Given the description of an element on the screen output the (x, y) to click on. 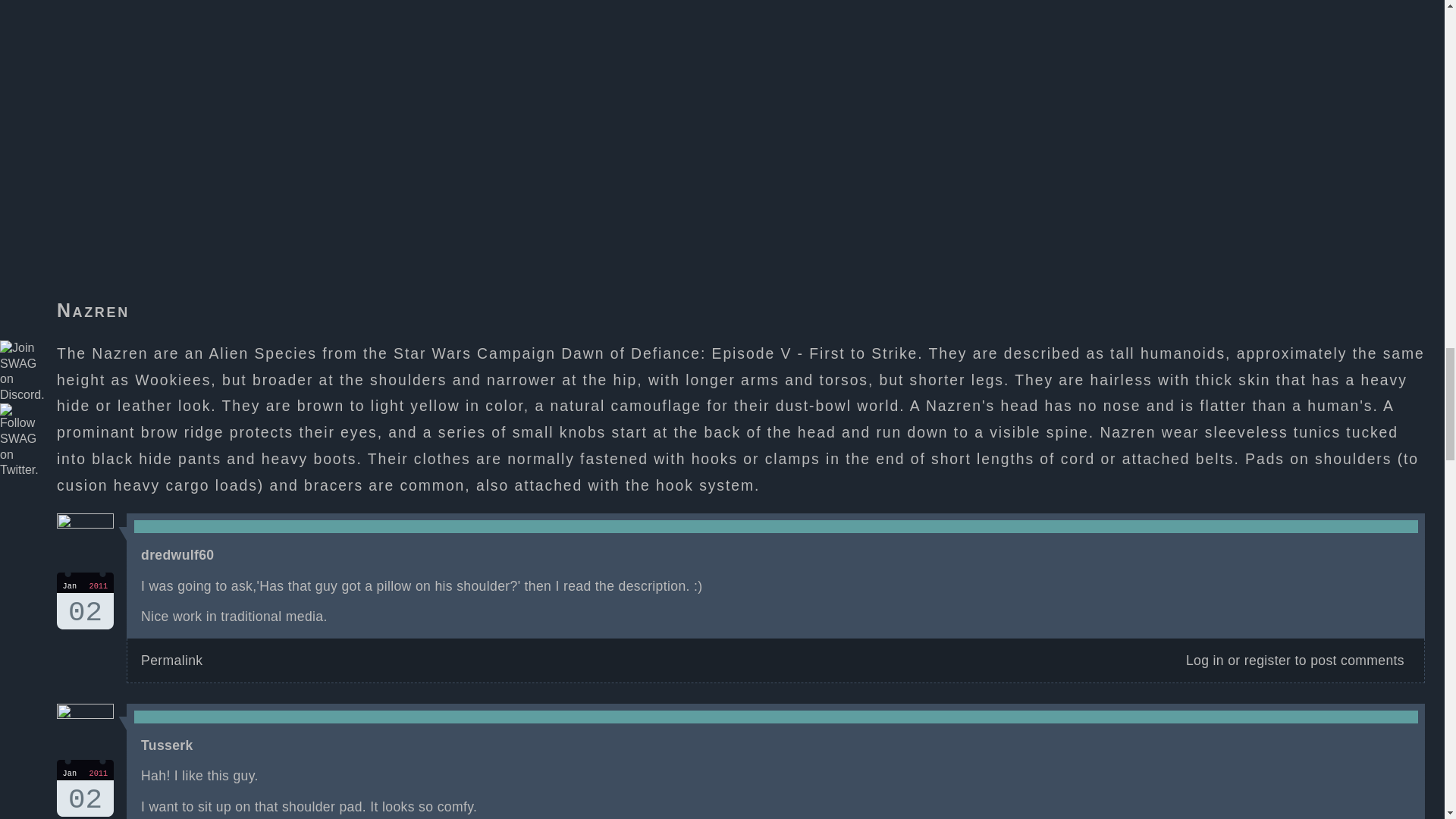
dredwulf60 (177, 554)
register (1267, 660)
View user profile. (177, 554)
View user profile. (167, 744)
Tusserk (84, 600)
Permalink (167, 744)
Log in (171, 660)
